Given the description of an element on the screen output the (x, y) to click on. 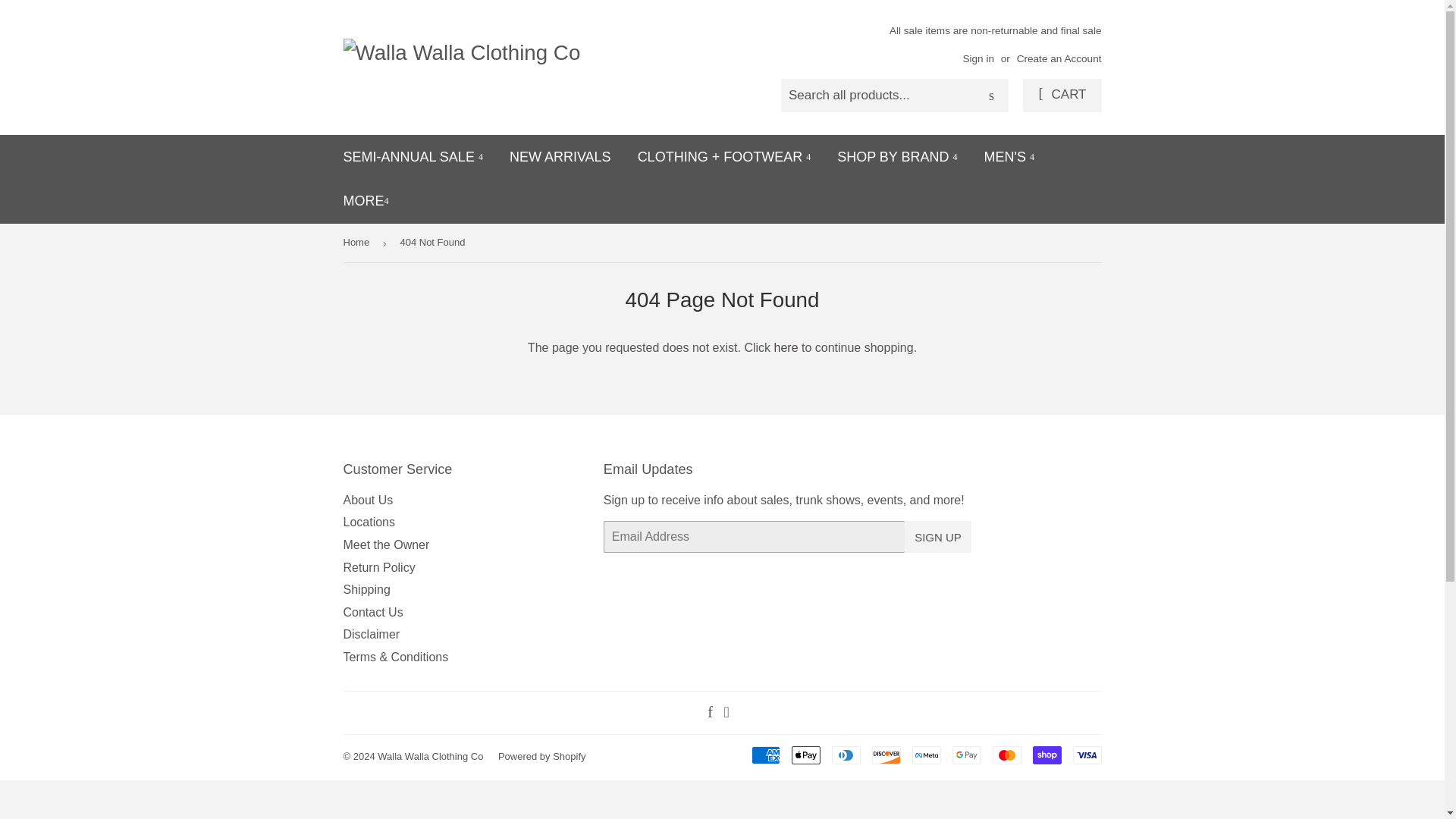
Visa (1085, 755)
American Express (764, 755)
Sign in (978, 58)
Mastercard (1005, 755)
All sale items are non-returnable and final sale (995, 43)
Search (991, 96)
Meta Pay (925, 755)
Google Pay (966, 755)
Create an Account (1059, 58)
CART (1061, 95)
Shop Pay (1046, 755)
Apple Pay (806, 755)
Diners Club (845, 755)
Discover (886, 755)
